Given the description of an element on the screen output the (x, y) to click on. 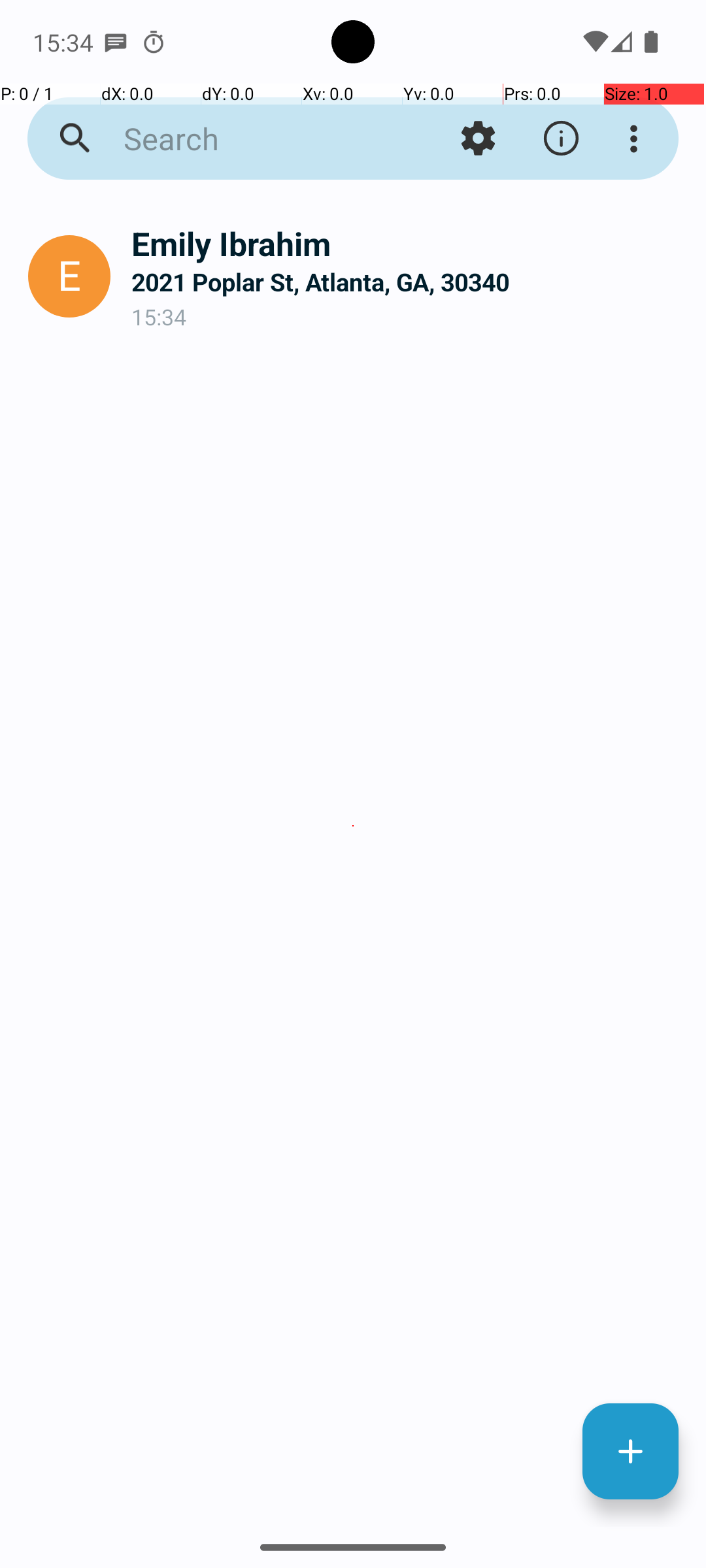
Emily Ibrahim Element type: android.widget.TextView (408, 242)
2021 Poplar St, Atlanta, GA, 30340 Element type: android.widget.TextView (408, 281)
SMS Messenger notification: Emily Ibrahim Element type: android.widget.ImageView (115, 41)
